Given the description of an element on the screen output the (x, y) to click on. 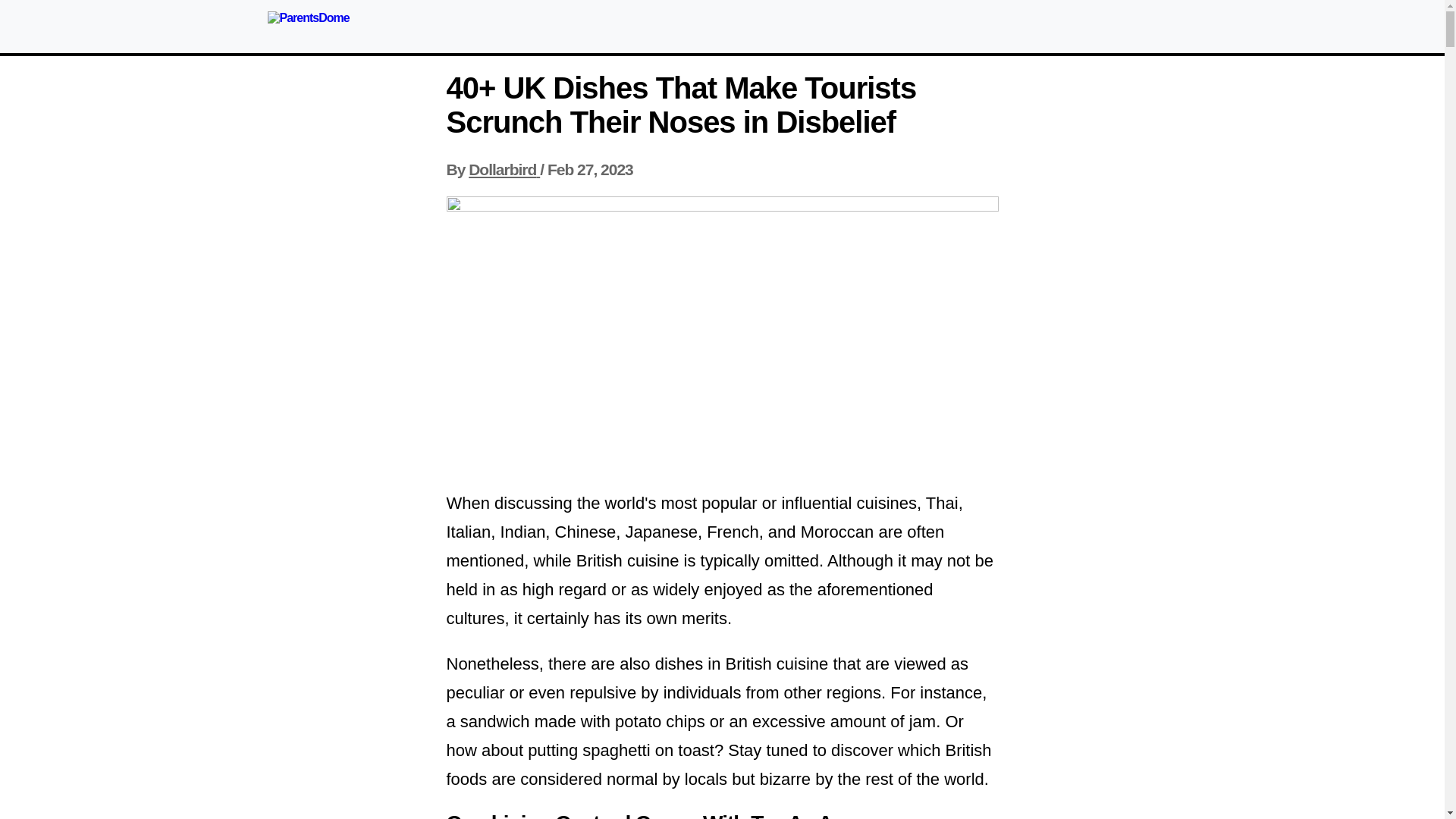
Dollarbird (504, 169)
